Given the description of an element on the screen output the (x, y) to click on. 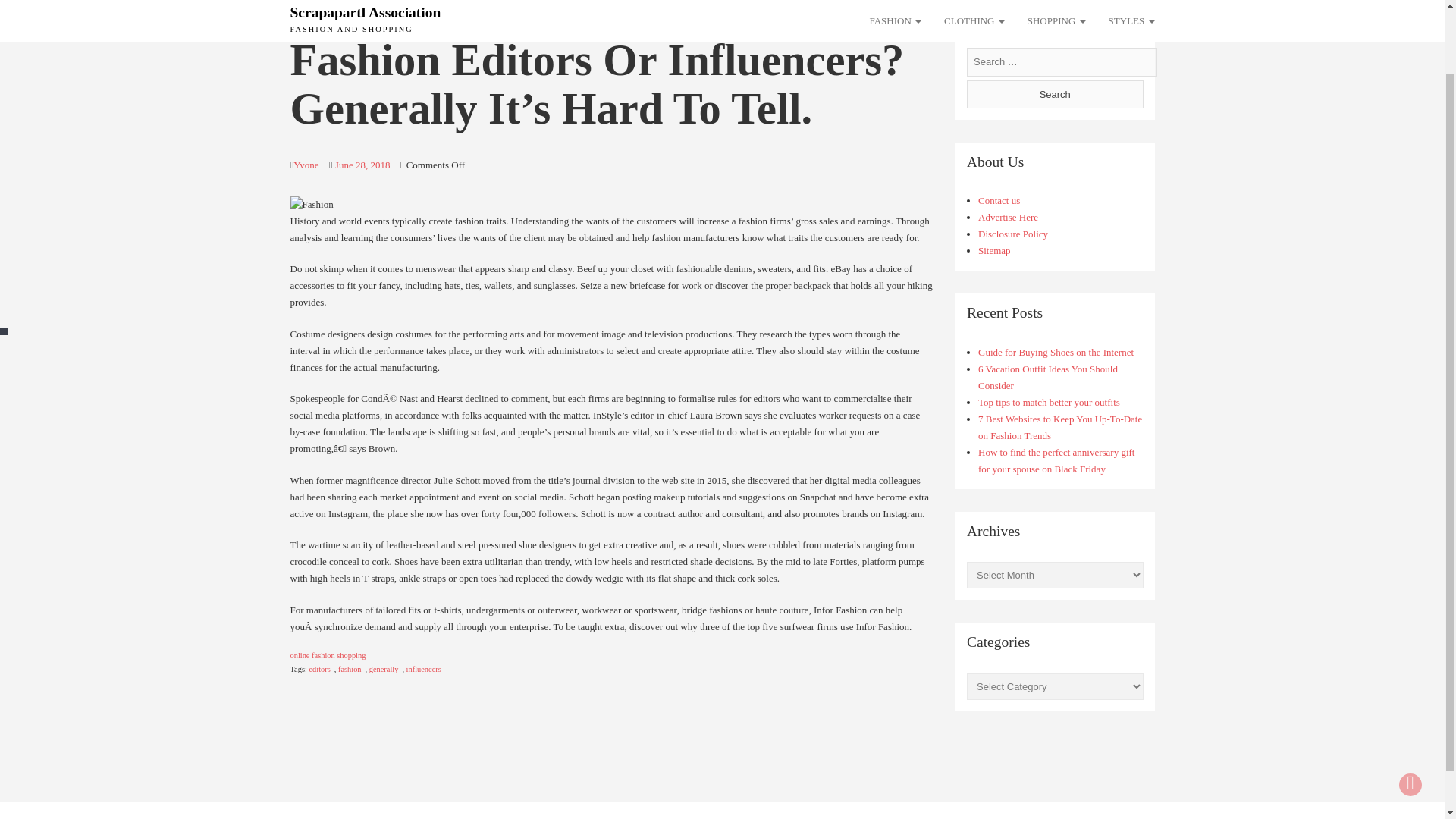
June 28, 2018 (362, 164)
7 Best Websites to Keep You Up-To-Date on Fashion Trends (1059, 427)
Search (1054, 93)
generally (383, 669)
Guide for Buying Shoes on the Internet (1056, 351)
fashion (349, 669)
Contact us (999, 200)
Search (1054, 93)
influencers (423, 669)
Sitemap (994, 250)
